Given the description of an element on the screen output the (x, y) to click on. 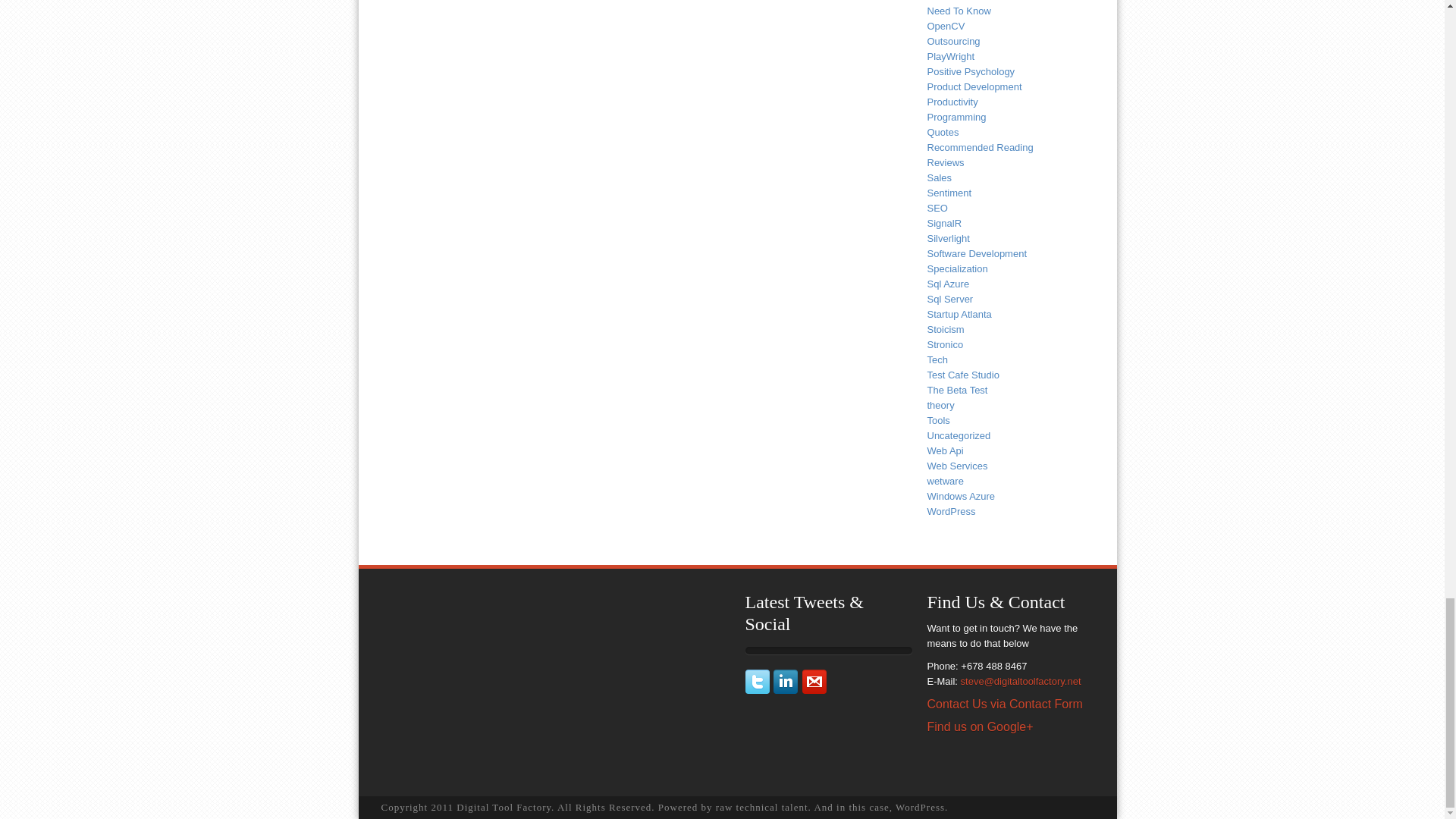
Follow Us on Twitter (757, 690)
Our Linkedin Profile (786, 690)
Contact Us Via Gmail (814, 690)
